Given the description of an element on the screen output the (x, y) to click on. 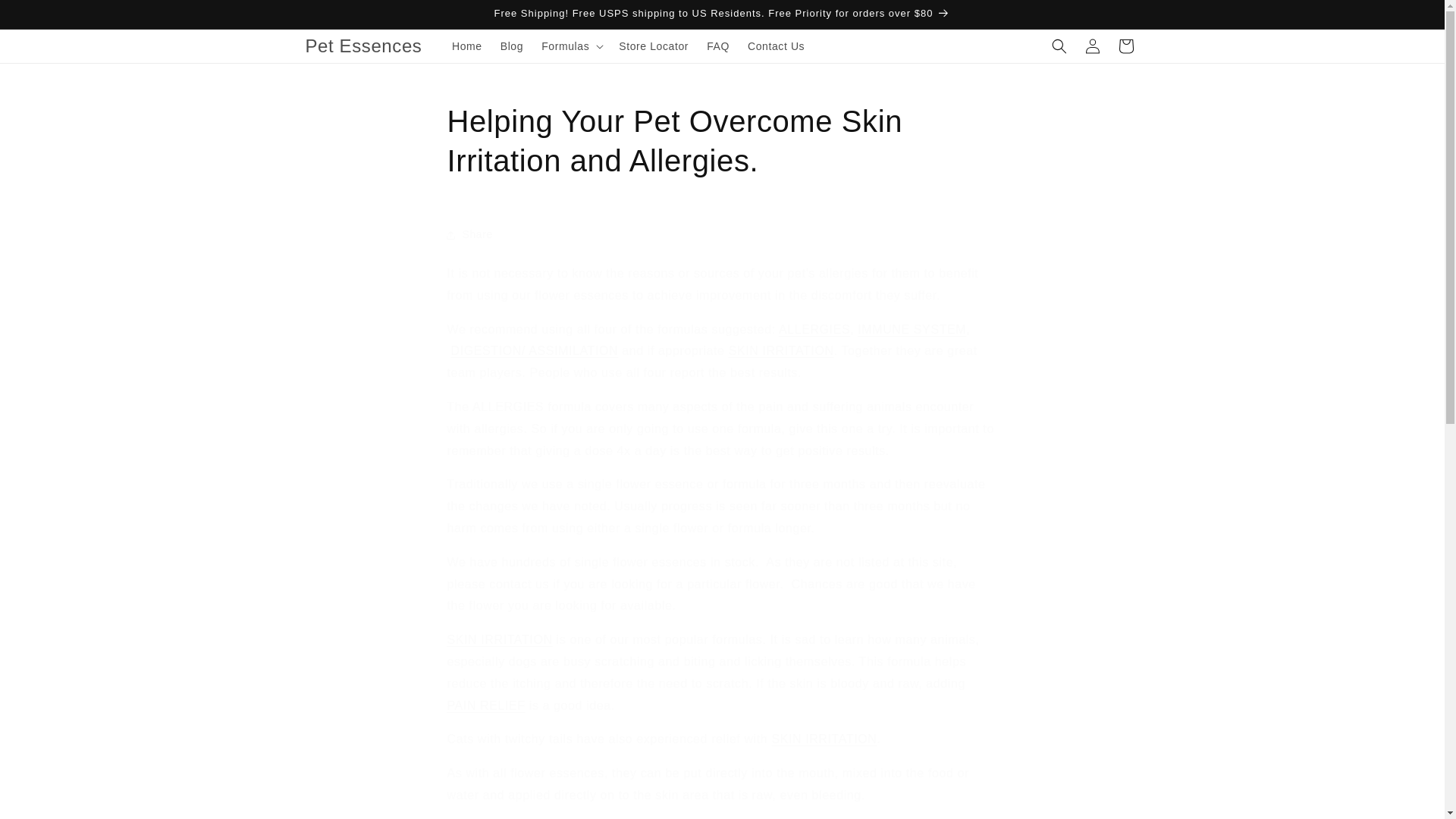
Skip to content (45, 17)
Pet Essences Skin Irritation formula (823, 738)
Helping Your Pet Overcome Skin Irritation and Allergies. (721, 140)
Pet Essences (363, 46)
Store Locator (653, 46)
Pet Essences Pain Relief formula (485, 705)
Log in (1091, 46)
Pet Essences Digestion and Assimilation formulla (534, 350)
Share (721, 234)
Pet Essences Skin Irritation formula (499, 639)
